Given the description of an element on the screen output the (x, y) to click on. 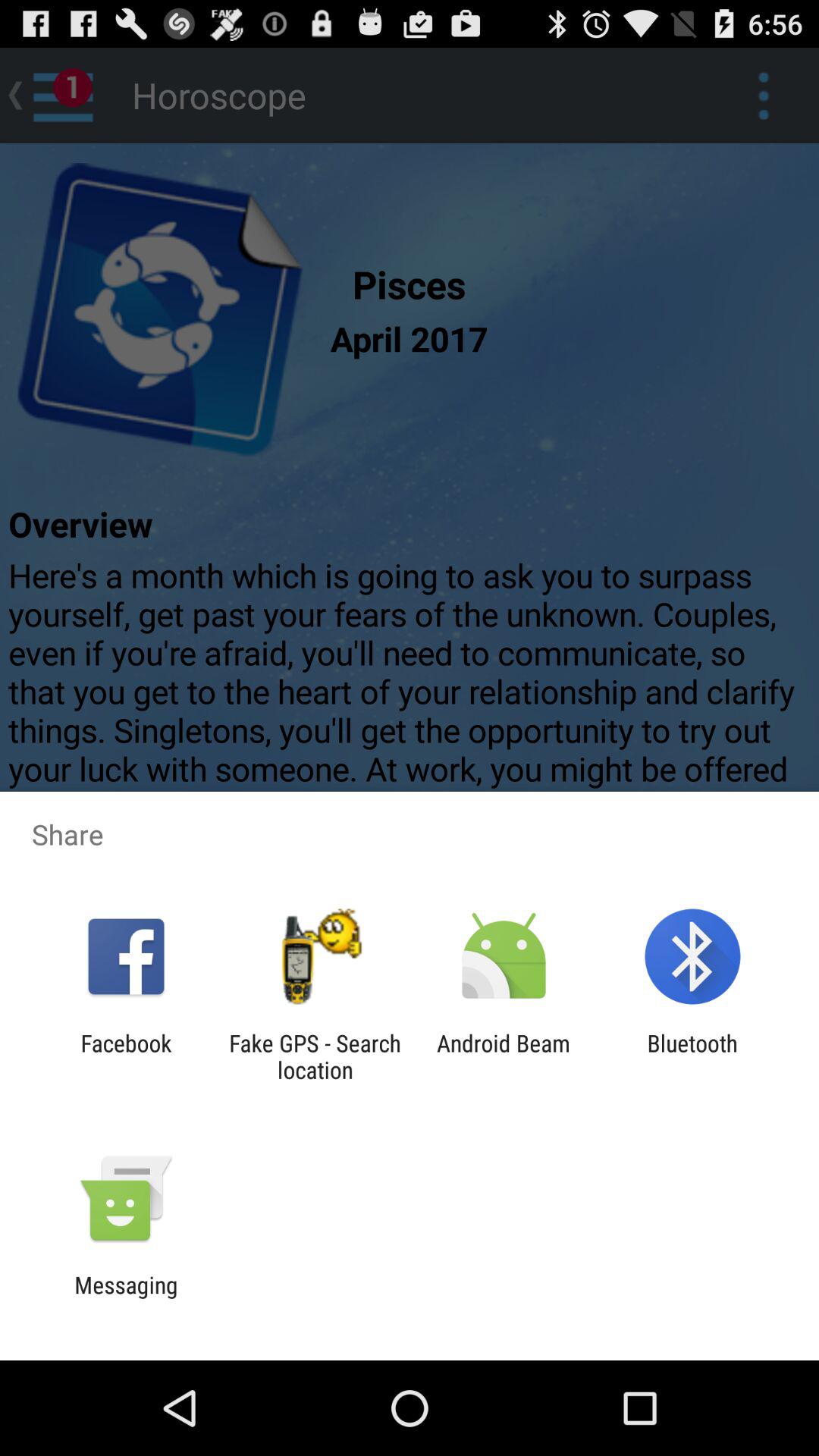
swipe to the fake gps search icon (314, 1056)
